Given the description of an element on the screen output the (x, y) to click on. 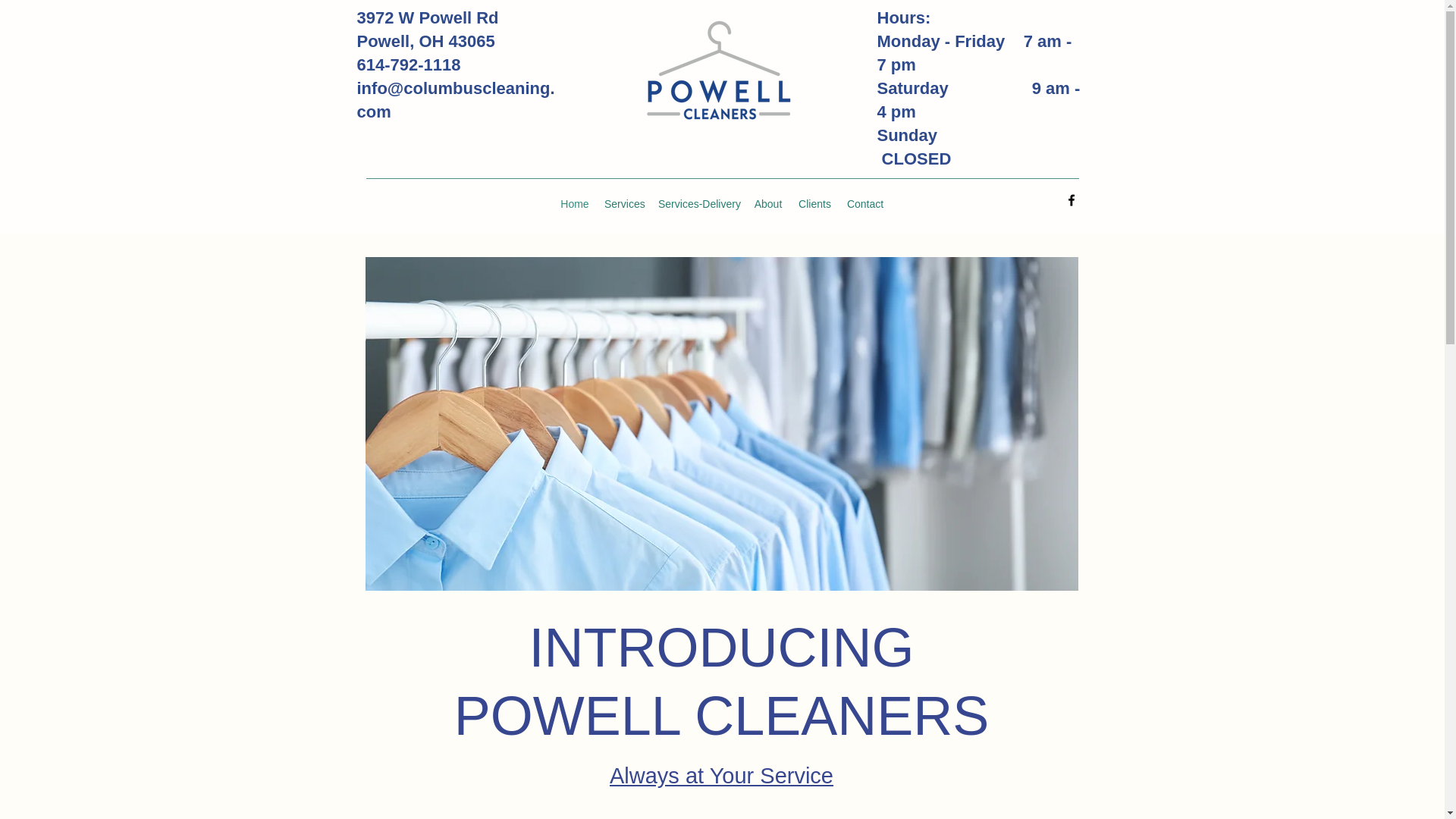
Services (623, 203)
Contact (864, 203)
Home (574, 203)
Services-Delivery (697, 203)
About (767, 203)
Clients (814, 203)
